Given the description of an element on the screen output the (x, y) to click on. 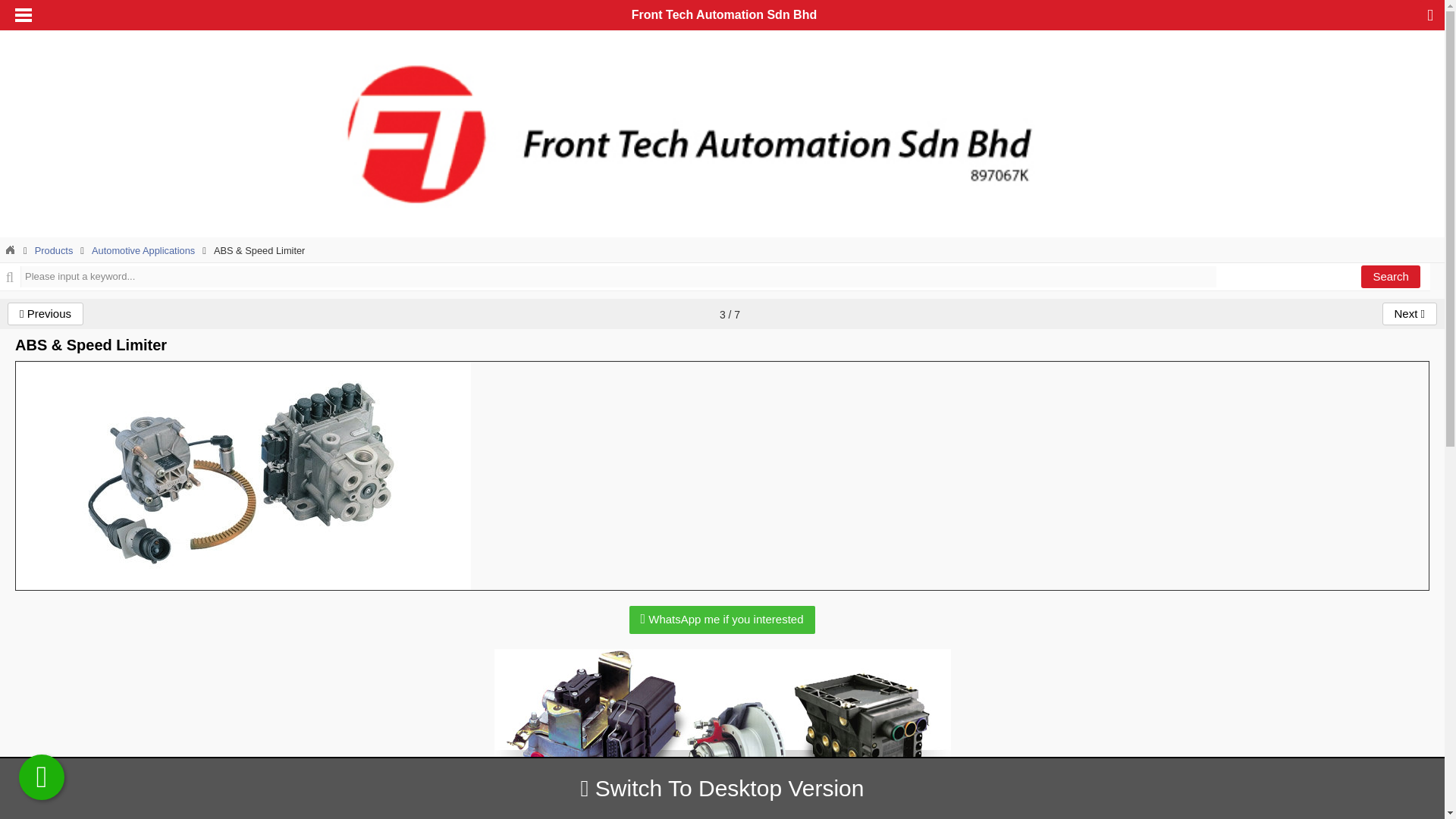
Next (1409, 313)
Home (10, 250)
Previous (44, 313)
WhatsApp me if you interested (720, 620)
Search (1391, 276)
Automotive Applications (143, 250)
Products (54, 250)
Switch To Desktop Version (722, 787)
